Given the description of an element on the screen output the (x, y) to click on. 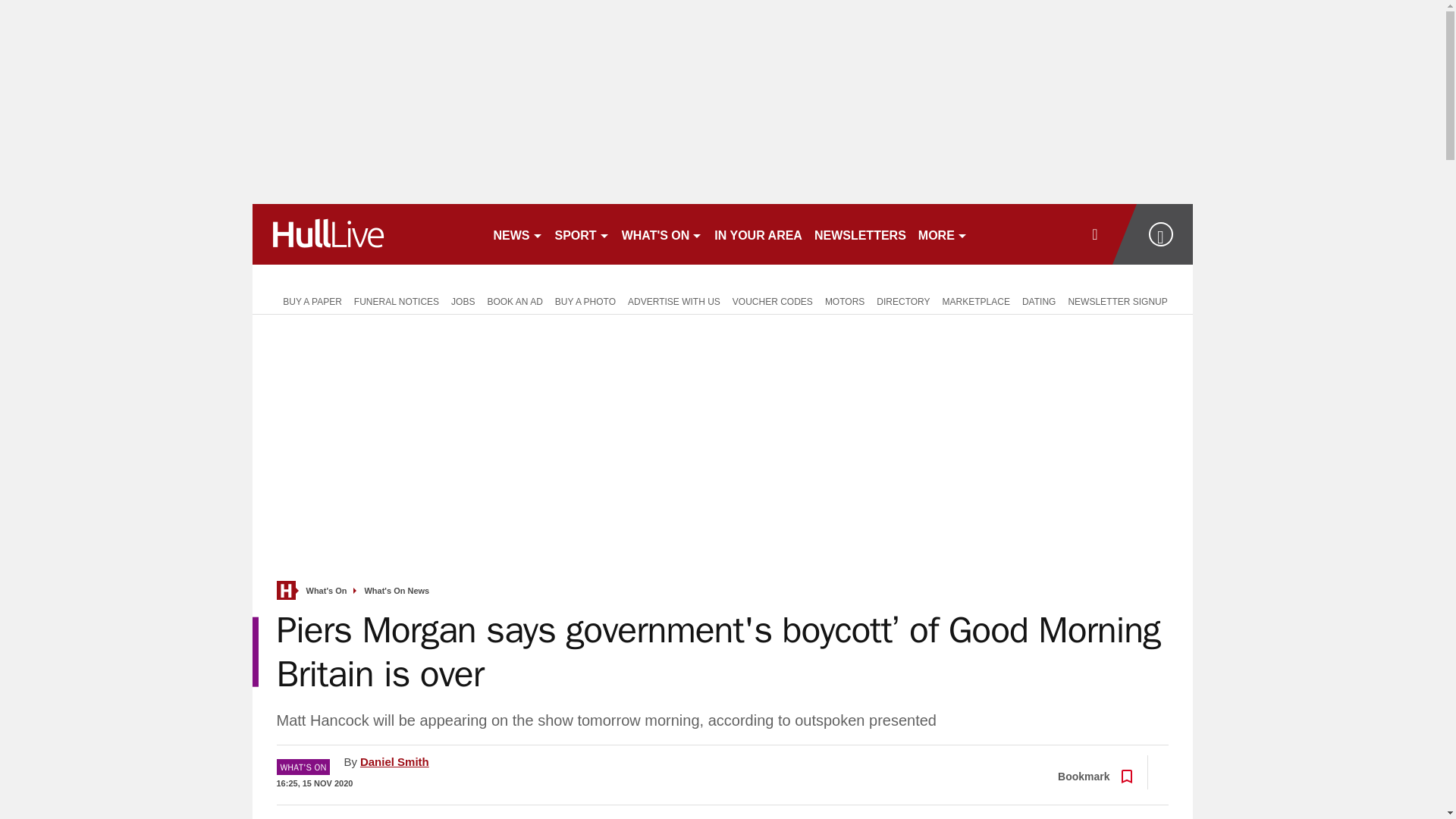
IN YOUR AREA (757, 233)
NEWSLETTERS (860, 233)
SPORT (581, 233)
hulldailymail (365, 233)
MORE (943, 233)
NEWS (517, 233)
WHAT'S ON (662, 233)
